Given the description of an element on the screen output the (x, y) to click on. 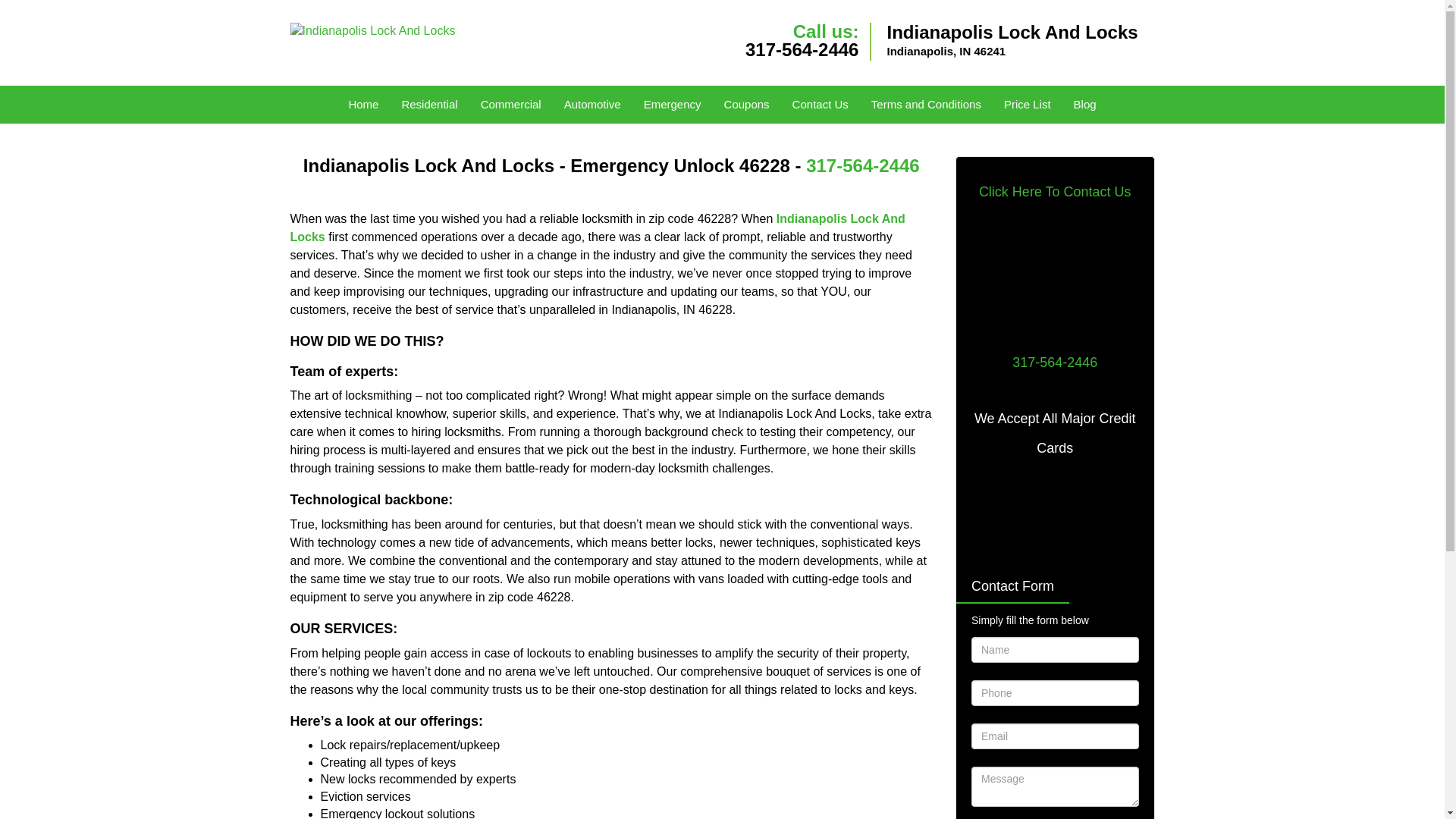
Name Field required (1054, 649)
Click Here To Contact Us (1054, 191)
Contact Us (820, 104)
Automotive (592, 104)
Terms and Conditions (926, 104)
Residential (429, 104)
Coupons (746, 104)
Phone Field required (1054, 692)
Indianapolis Lock And Locks (596, 227)
Emergency (672, 104)
Blog (1085, 104)
Message Field require (1054, 785)
317-564-2446 (862, 165)
317-564-2446 (802, 49)
Home (363, 104)
